Given the description of an element on the screen output the (x, y) to click on. 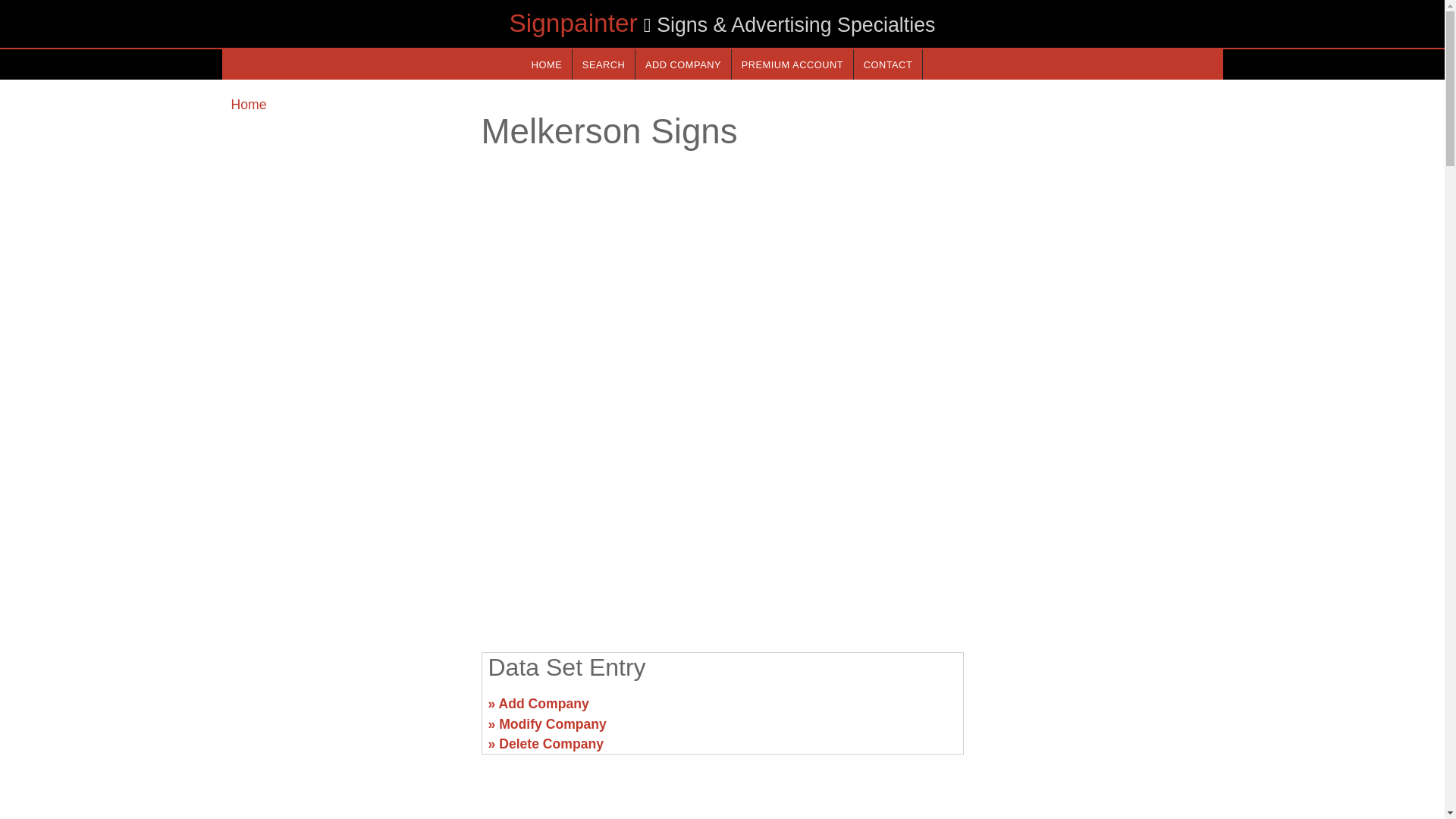
Search in this webseite. (603, 64)
Premium account (792, 64)
SEARCH (603, 64)
CONTACT (887, 64)
Add a new company (682, 64)
HOME (546, 64)
ADD COMPANY (682, 64)
PREMIUM ACCOUNT (792, 64)
Home (248, 104)
Signpainter (573, 22)
Advertisement (721, 522)
Advertisement (346, 710)
Advertisement (1096, 710)
